Given the description of an element on the screen output the (x, y) to click on. 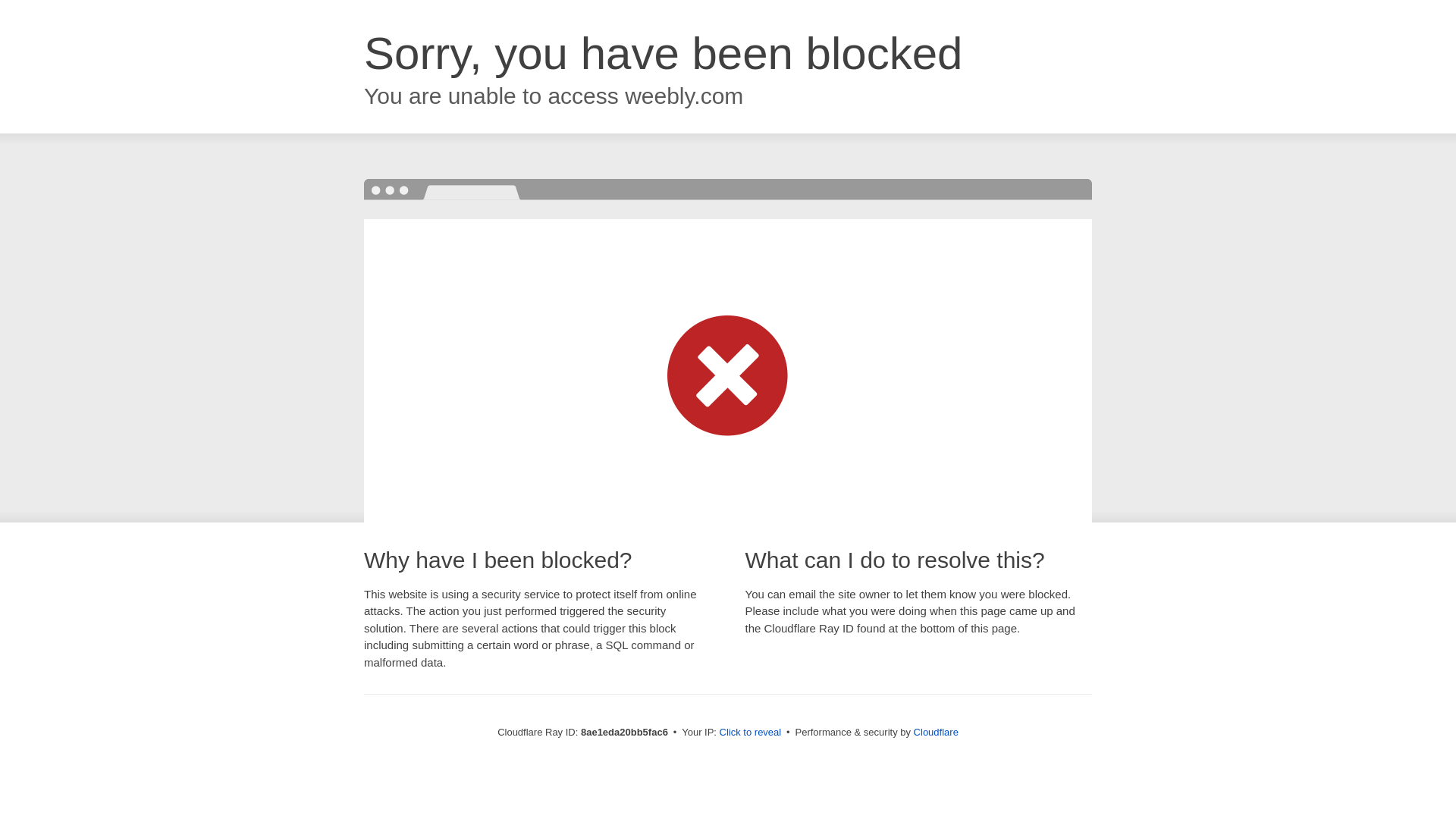
Cloudflare (936, 731)
Click to reveal (750, 732)
